Given the description of an element on the screen output the (x, y) to click on. 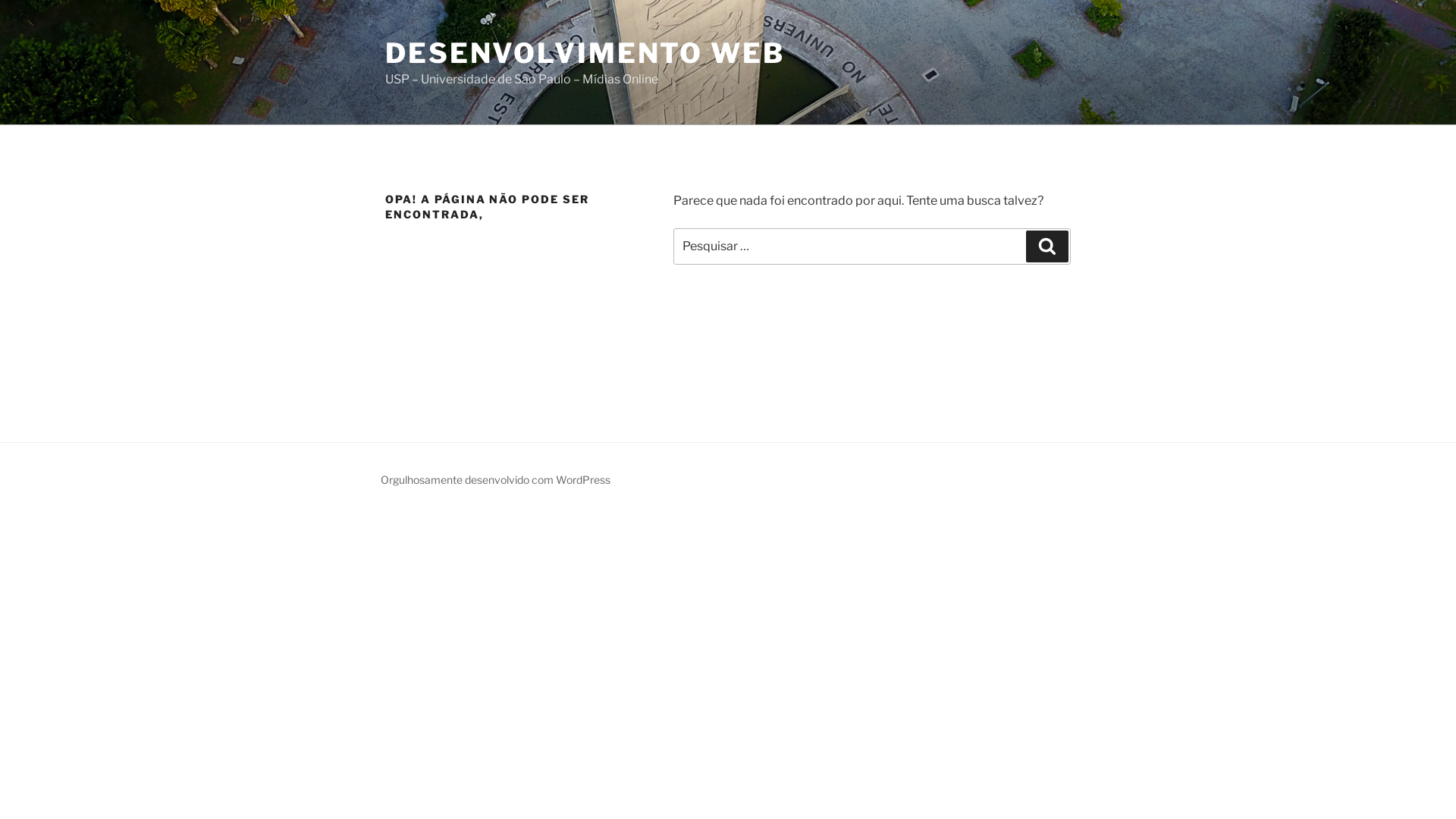
DESENVOLVIMENTO WEB Element type: text (584, 52)
Orgulhosamente desenvolvido com WordPress Element type: text (495, 479)
Pesquisar Element type: text (1047, 246)
